Given the description of an element on the screen output the (x, y) to click on. 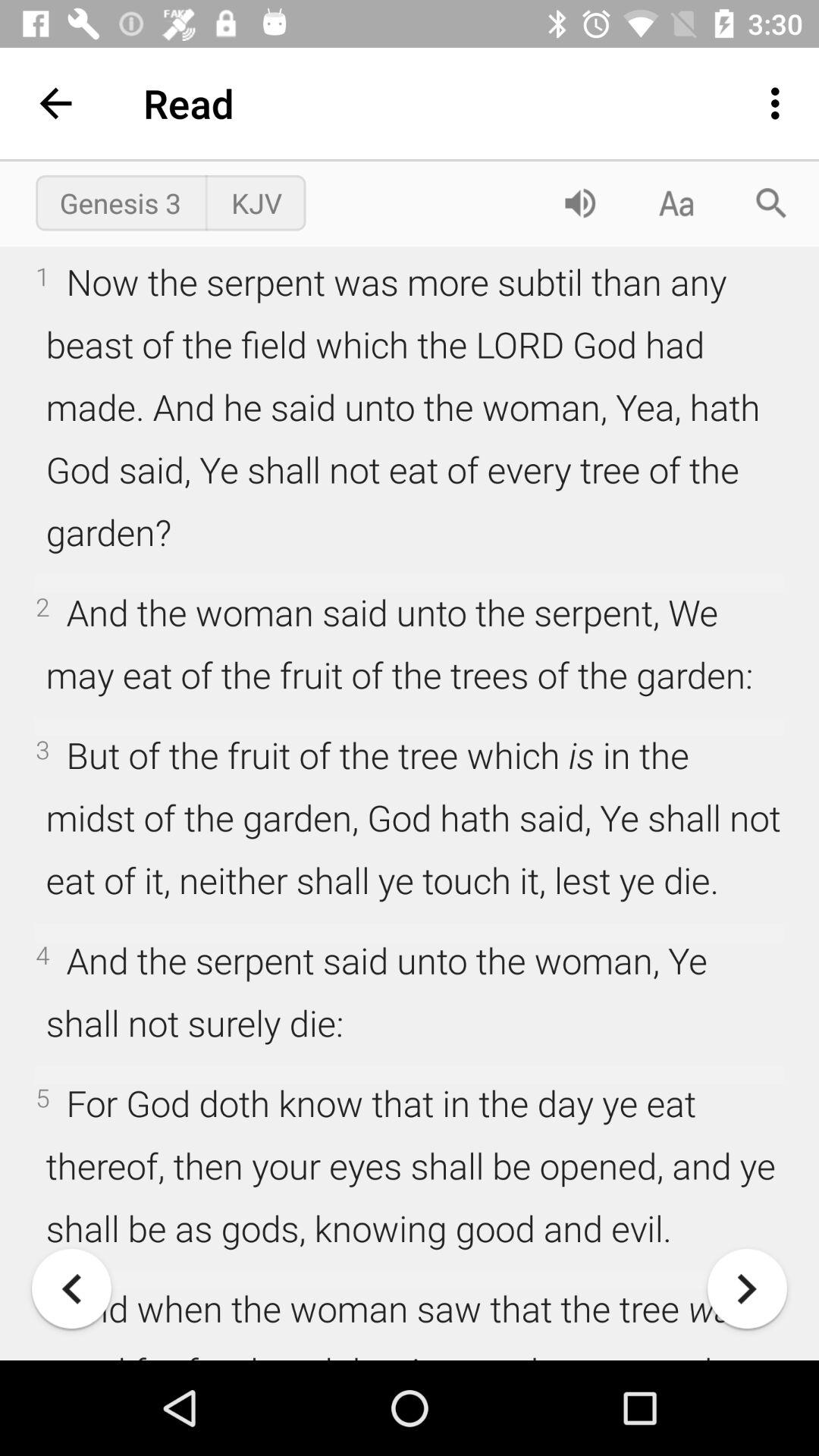
edit text size (675, 202)
